Given the description of an element on the screen output the (x, y) to click on. 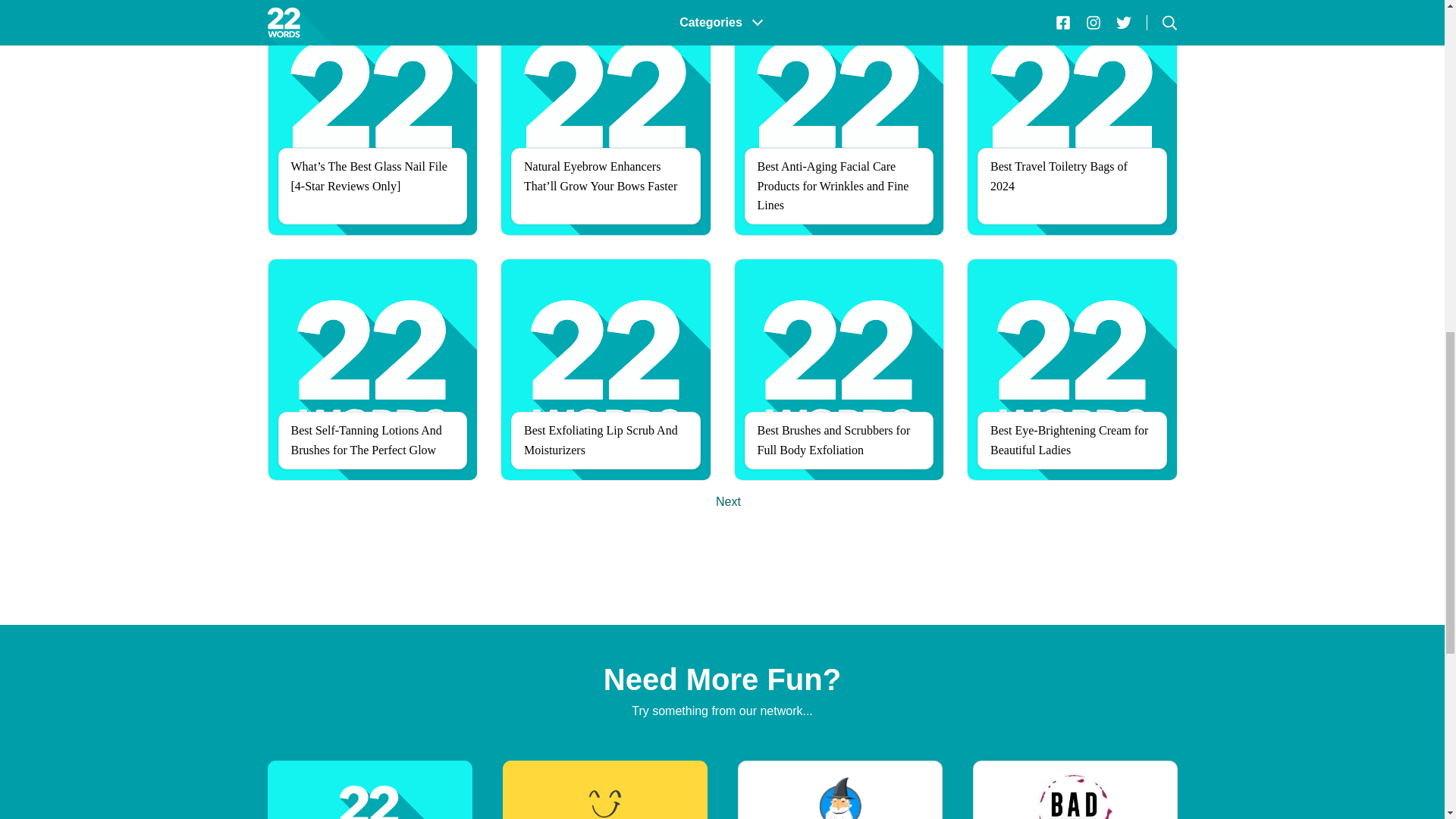
Best Self-Tanning Lotions And Brushes for The Perfect Glow (371, 368)
Best Eye-Brightening Cream for Beautiful Ladies (1071, 368)
Next (728, 501)
Best Brushes and Scrubbers for Full Body Exfoliation (838, 368)
Best Exfoliating Lip Scrub And Moisturizers (605, 368)
Best Travel Toiletry Bags of 2024 (1071, 117)
